Given the description of an element on the screen output the (x, y) to click on. 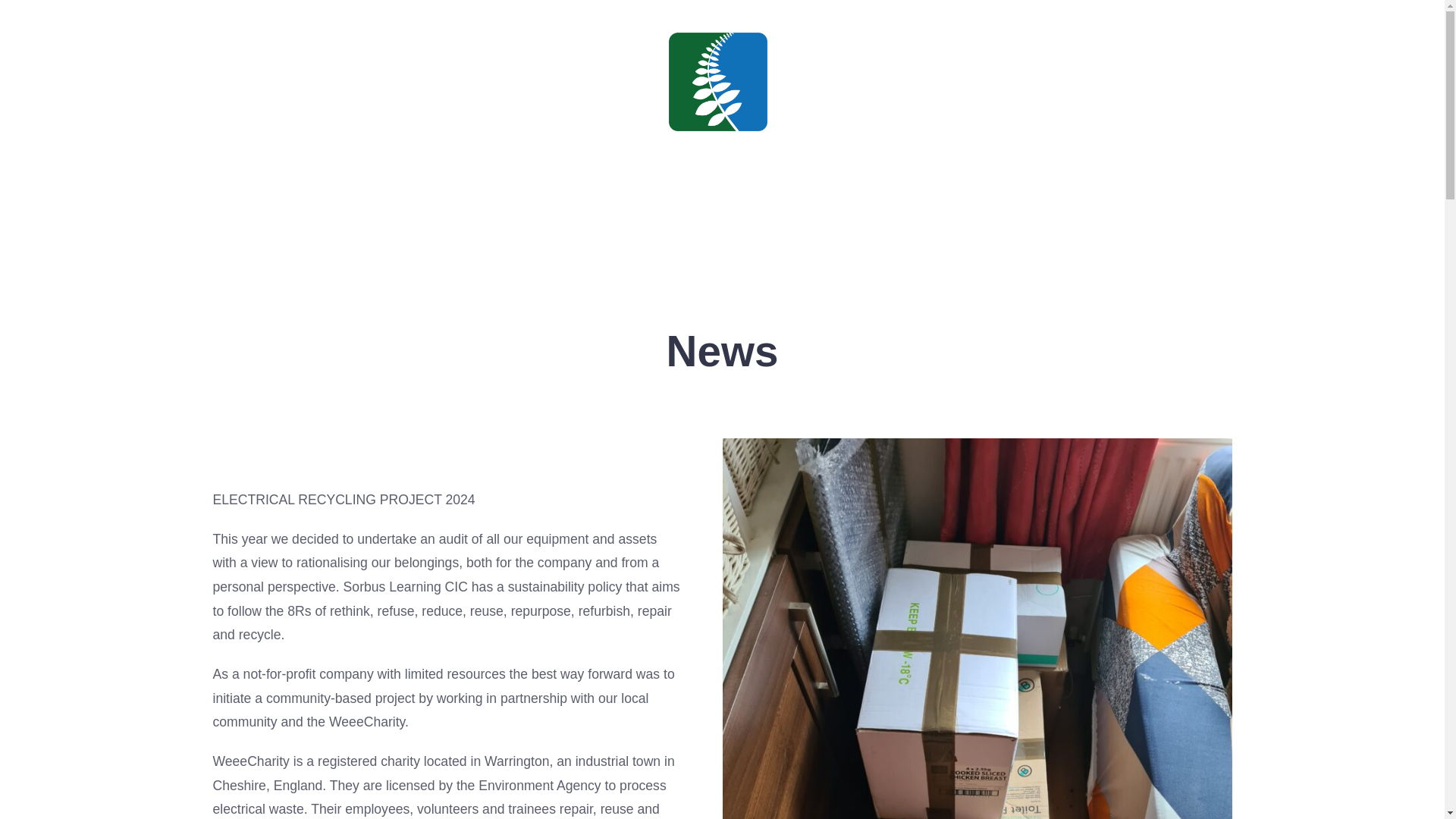
Activities (713, 218)
Search Toggle (70, 129)
Home (560, 218)
Sorbus Learning CIC (716, 148)
Contact (868, 218)
News (793, 218)
About (630, 218)
